Given the description of an element on the screen output the (x, y) to click on. 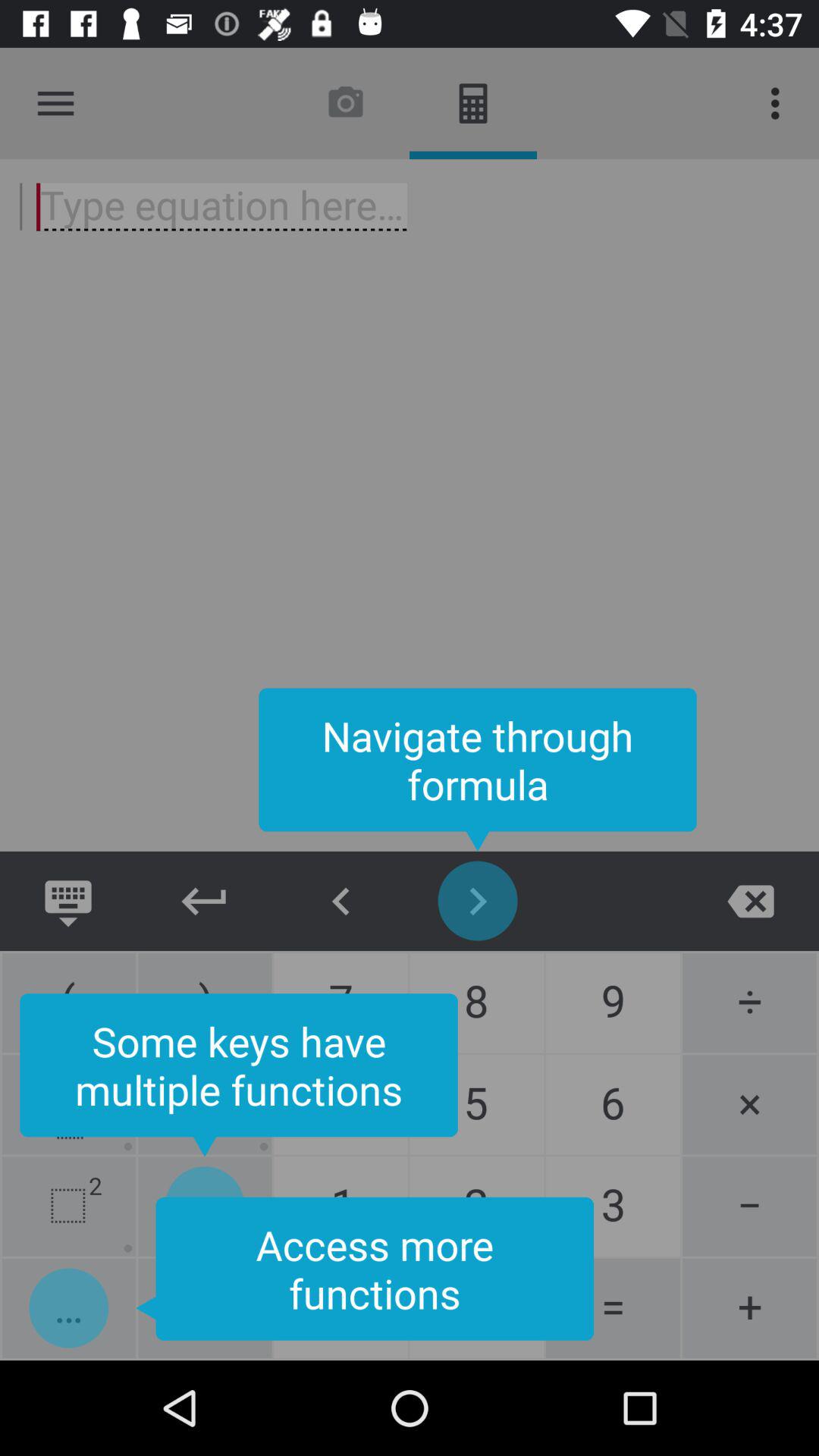
close keyboard (68, 900)
